Given the description of an element on the screen output the (x, y) to click on. 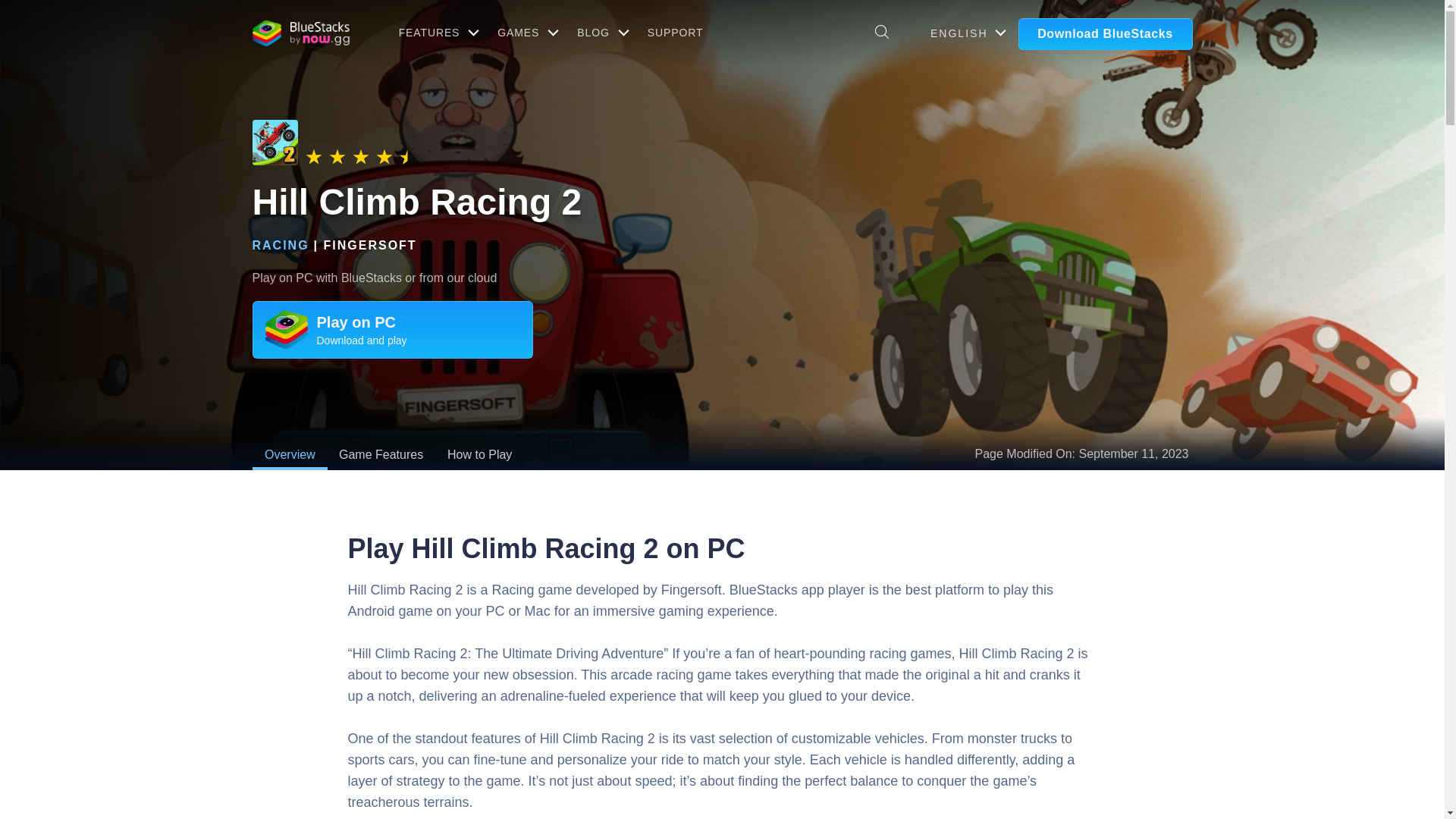
FEATURES (437, 32)
